Given the description of an element on the screen output the (x, y) to click on. 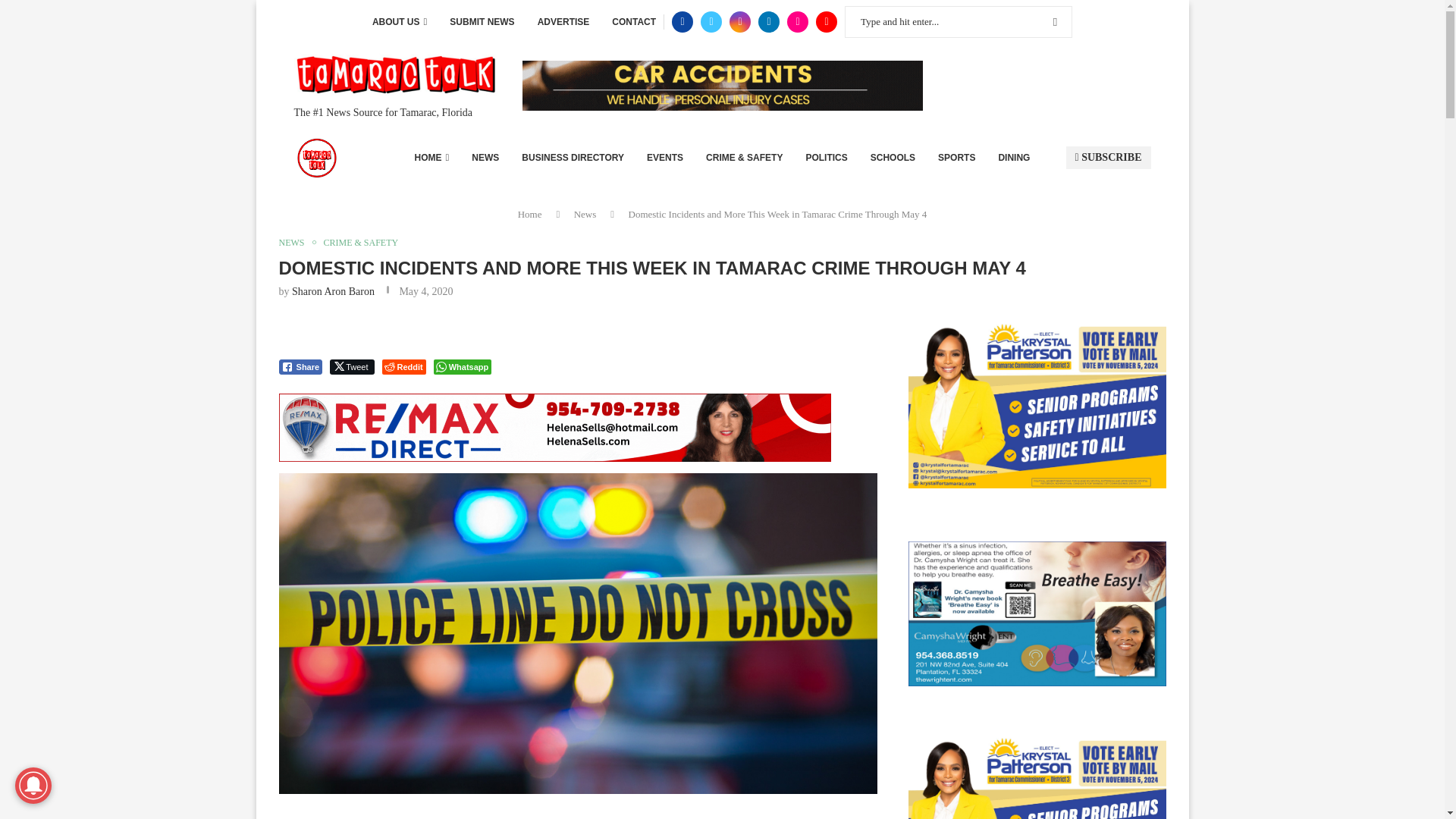
BUSINESS DIRECTORY (572, 157)
SUBMIT NEWS (481, 22)
CONTACT (633, 22)
POLITICS (826, 157)
SCHOOLS (892, 157)
ABOUT US (399, 22)
ADVERTISE (563, 22)
SUBSCRIBE (1108, 157)
